Given the description of an element on the screen output the (x, y) to click on. 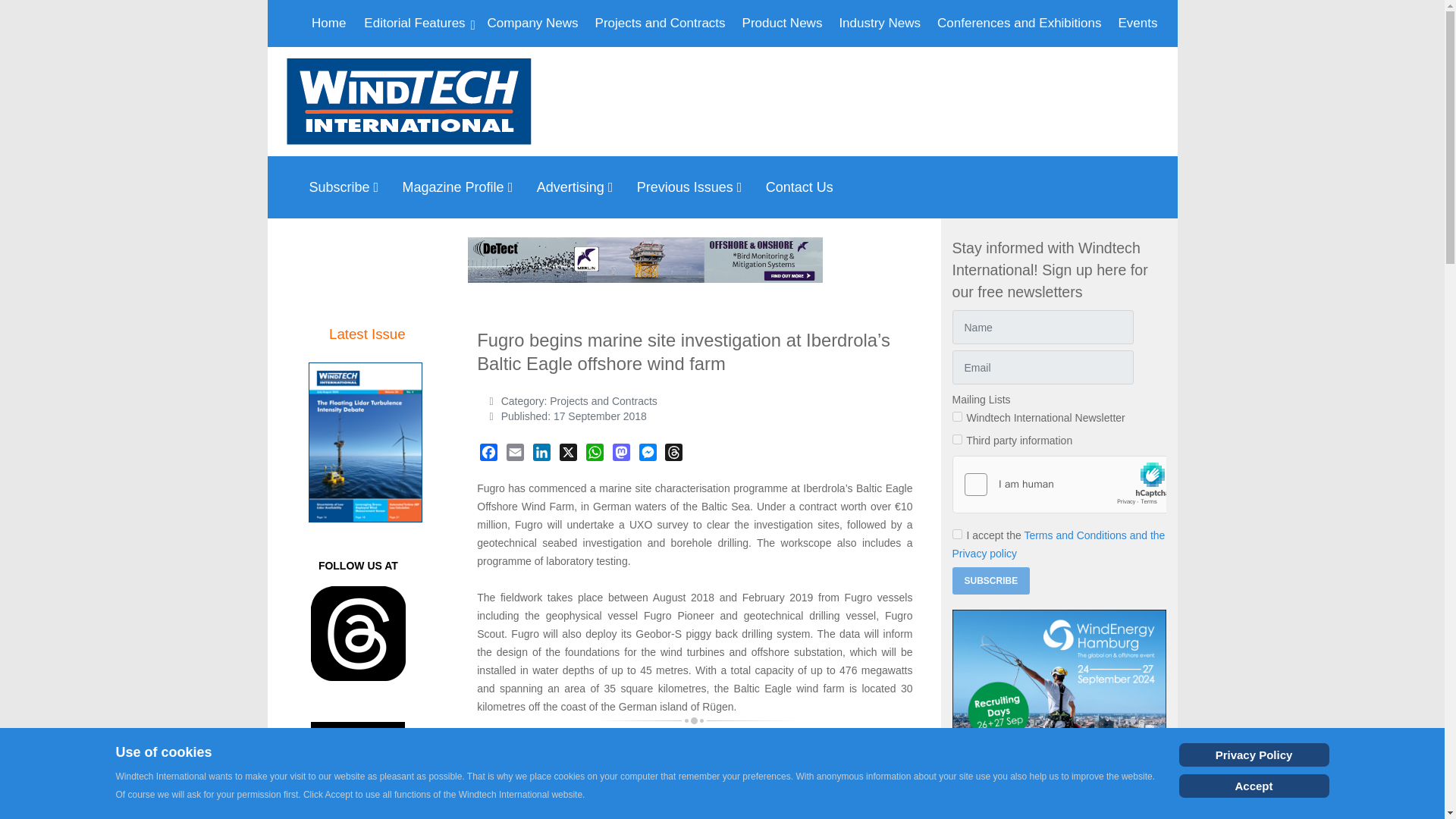
Advertising (578, 186)
Projects and Contracts (660, 22)
4 (957, 416)
Subscribe (991, 580)
Home (328, 22)
Industry News (879, 22)
Editorial Features (416, 22)
Magazine Profile (461, 186)
Events (1138, 22)
Conferences and Exhibitions (1019, 22)
Previous Issues (693, 186)
5 (957, 439)
Widget containing checkbox for hCaptcha security challenge (1059, 485)
on (957, 533)
Subscribe (347, 186)
